Given the description of an element on the screen output the (x, y) to click on. 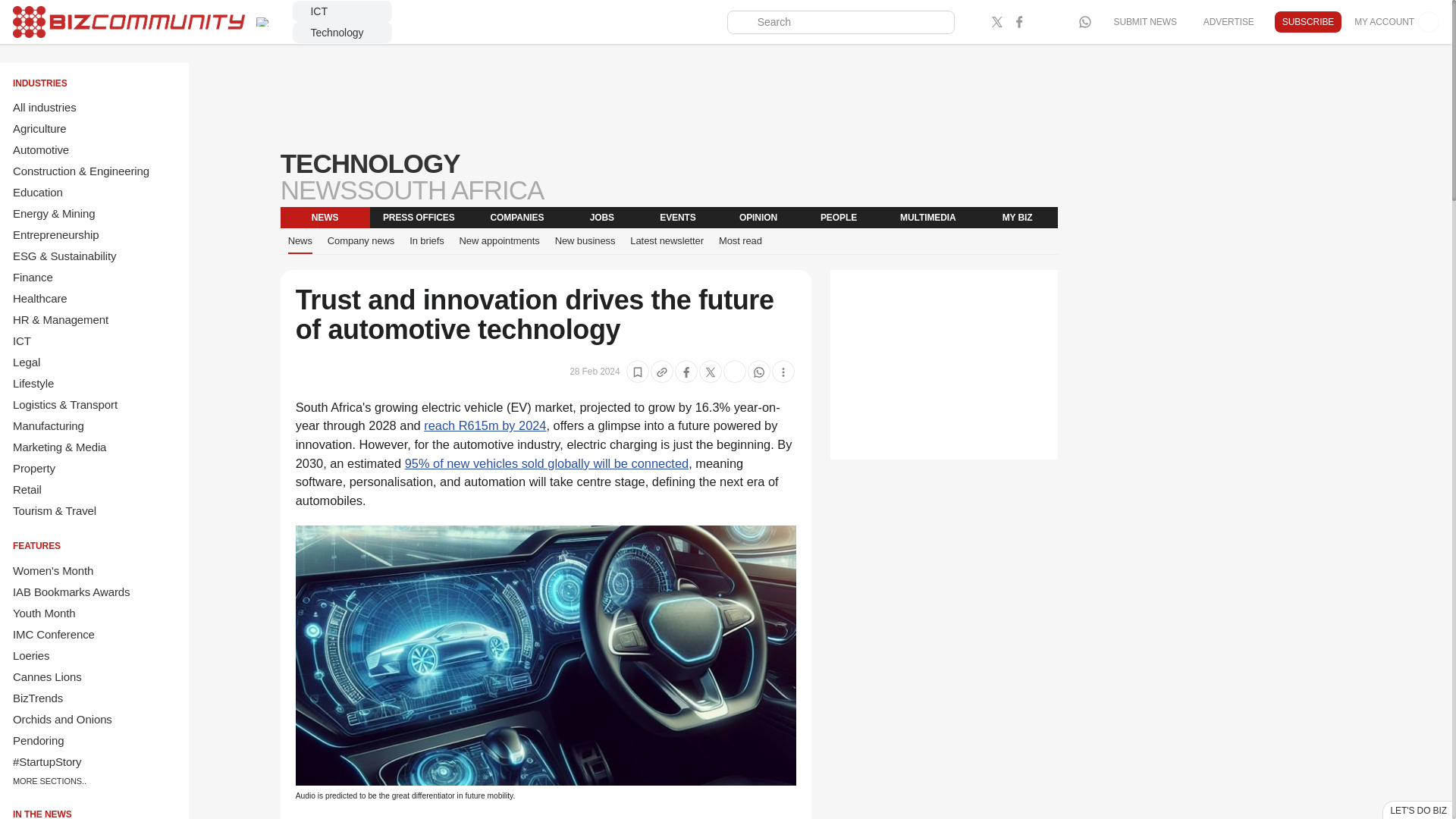
Bizcommunity facebook (1084, 22)
ADVERTISE (1228, 21)
Technology (342, 32)
SUBSCRIBE (1307, 21)
MY ACCOUNT (1396, 21)
Bizcommunity youtube (1062, 22)
SUBMIT NEWS (1144, 21)
Bizcommunity facebook (1018, 22)
Bizcommunity linked (975, 22)
Bizcommunity instagram (1040, 22)
